Given the description of an element on the screen output the (x, y) to click on. 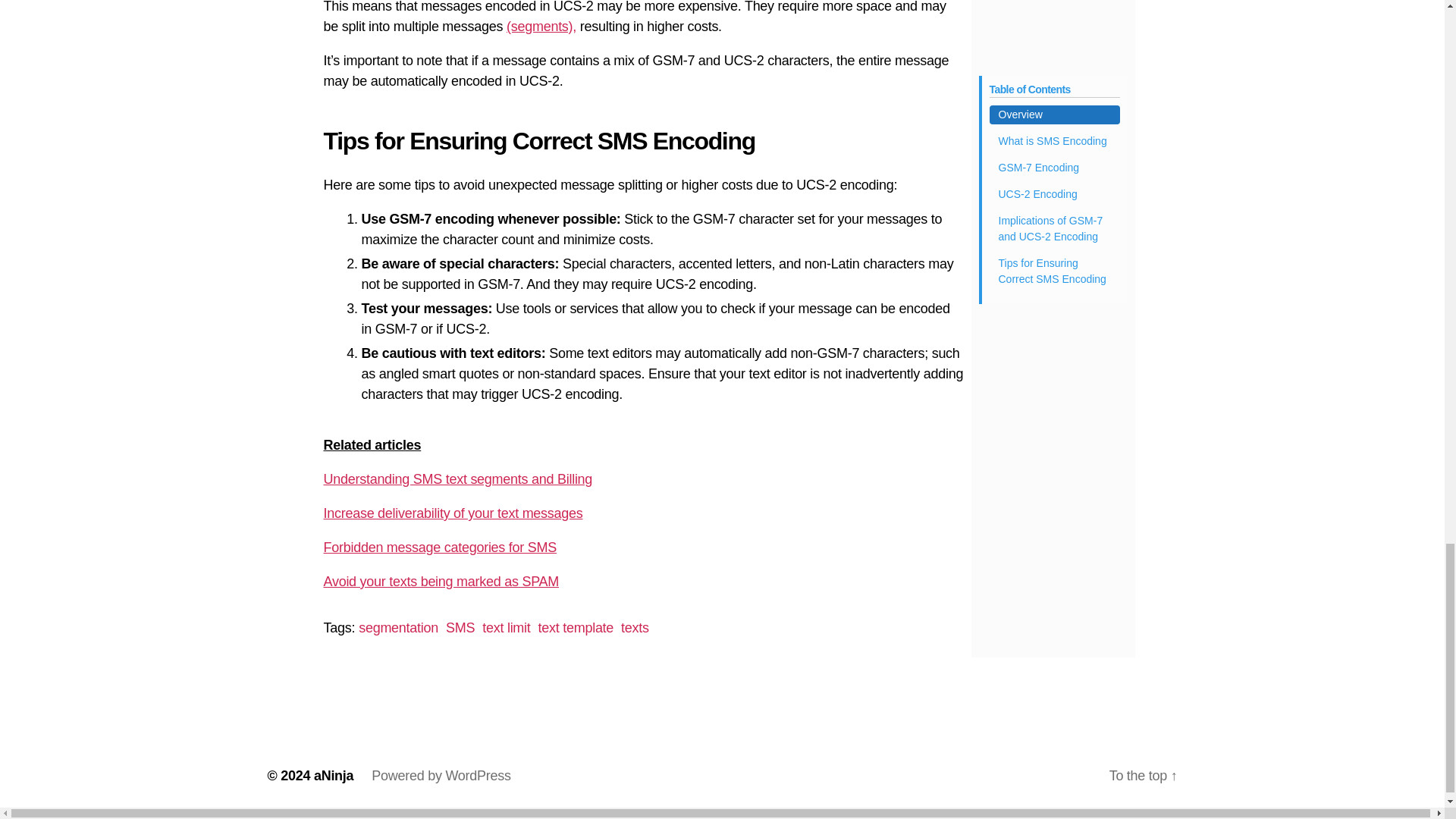
texts (635, 627)
Increase deliverability of your text messages (452, 513)
text limit (505, 627)
Powered by WordPress (441, 775)
segmentation (398, 627)
SMS (459, 627)
aNinja (333, 775)
Forbidden message categories for SMS (439, 547)
text template (576, 627)
Understanding SMS text segments and Billing (457, 478)
